Given the description of an element on the screen output the (x, y) to click on. 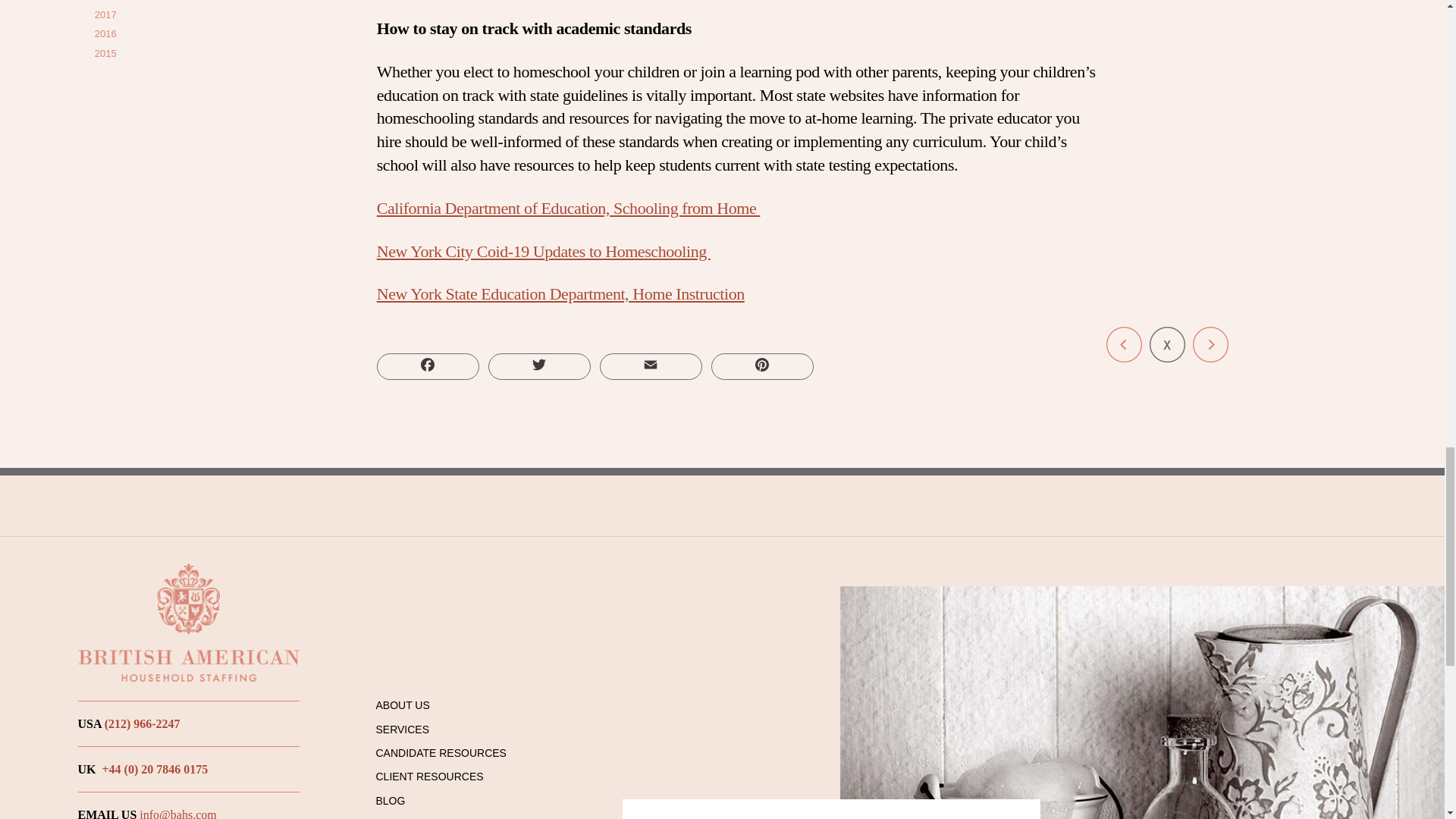
Email (650, 366)
Twitter (539, 366)
Facebook (428, 366)
Pinterest (762, 366)
